Given the description of an element on the screen output the (x, y) to click on. 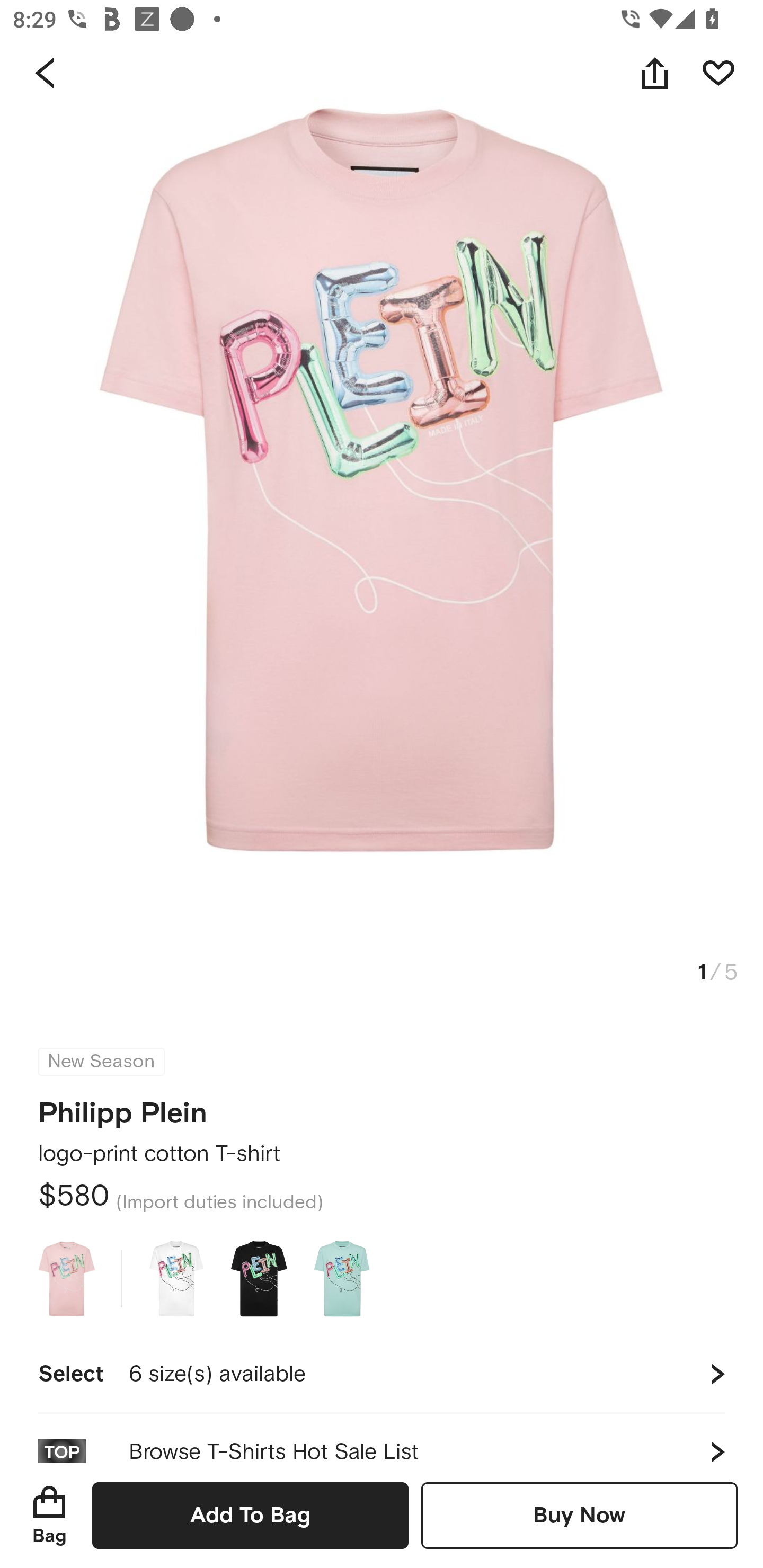
Philipp Plein (122, 1107)
Select 6 size(s) available (381, 1373)
Browse T-Shirts Hot Sale List (381, 1438)
Bag (49, 1515)
Add To Bag (250, 1515)
Buy Now (579, 1515)
